Given the description of an element on the screen output the (x, y) to click on. 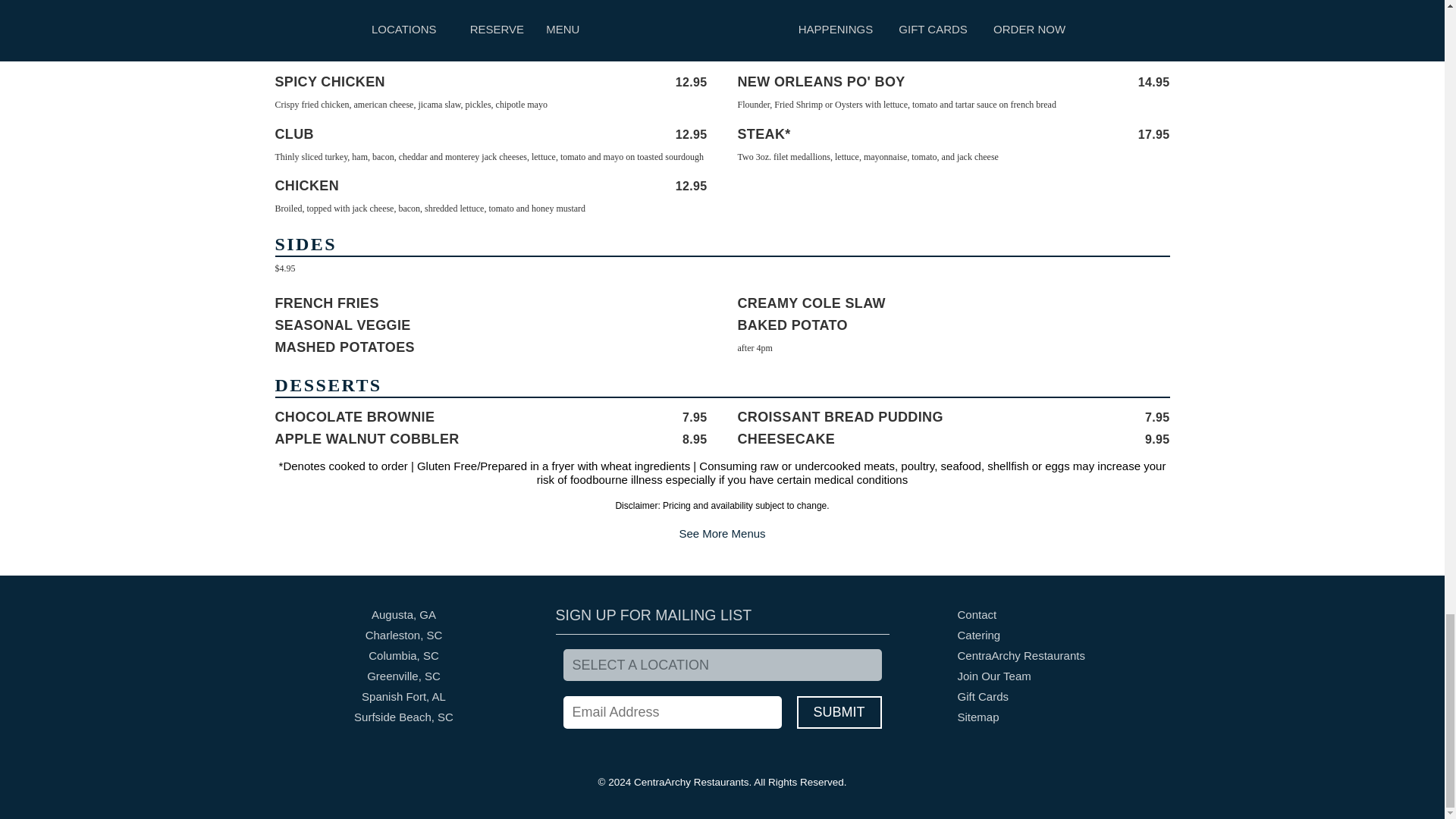
SUBMIT (838, 712)
